Given the description of an element on the screen output the (x, y) to click on. 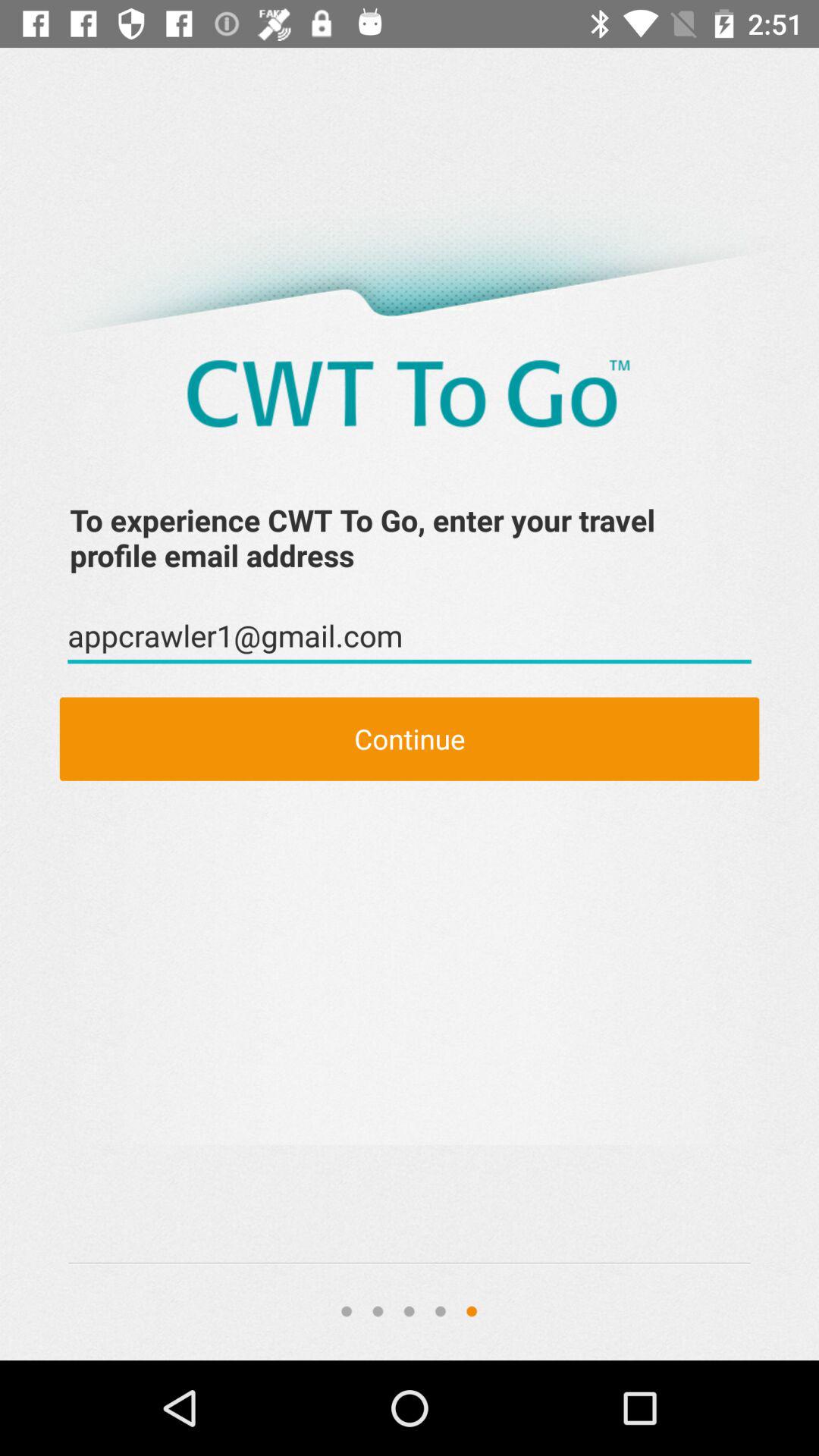
swipe until continue item (409, 738)
